Given the description of an element on the screen output the (x, y) to click on. 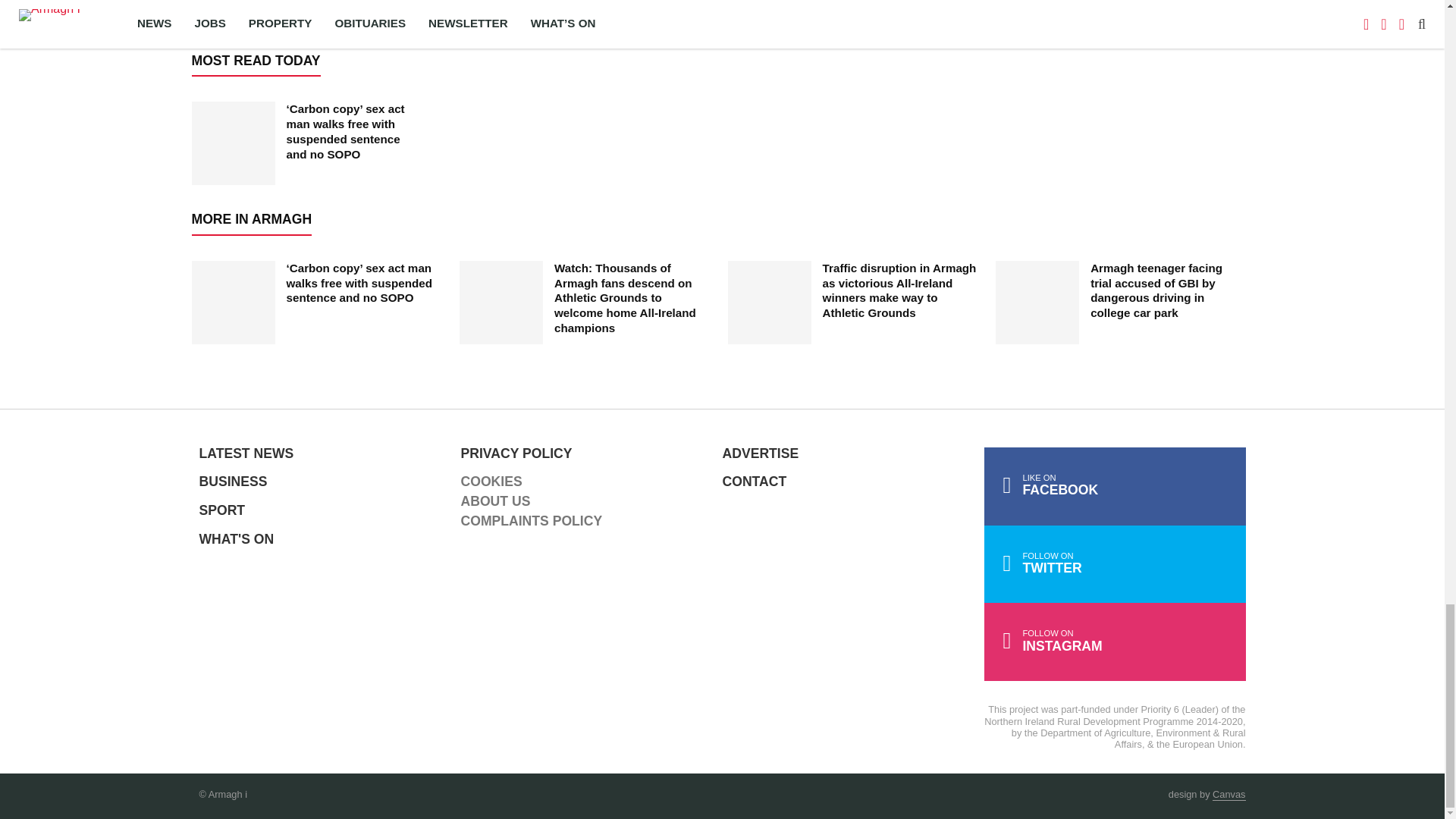
Facebook (1115, 486)
Twitter (1115, 564)
Instagram (1115, 641)
